Given the description of an element on the screen output the (x, y) to click on. 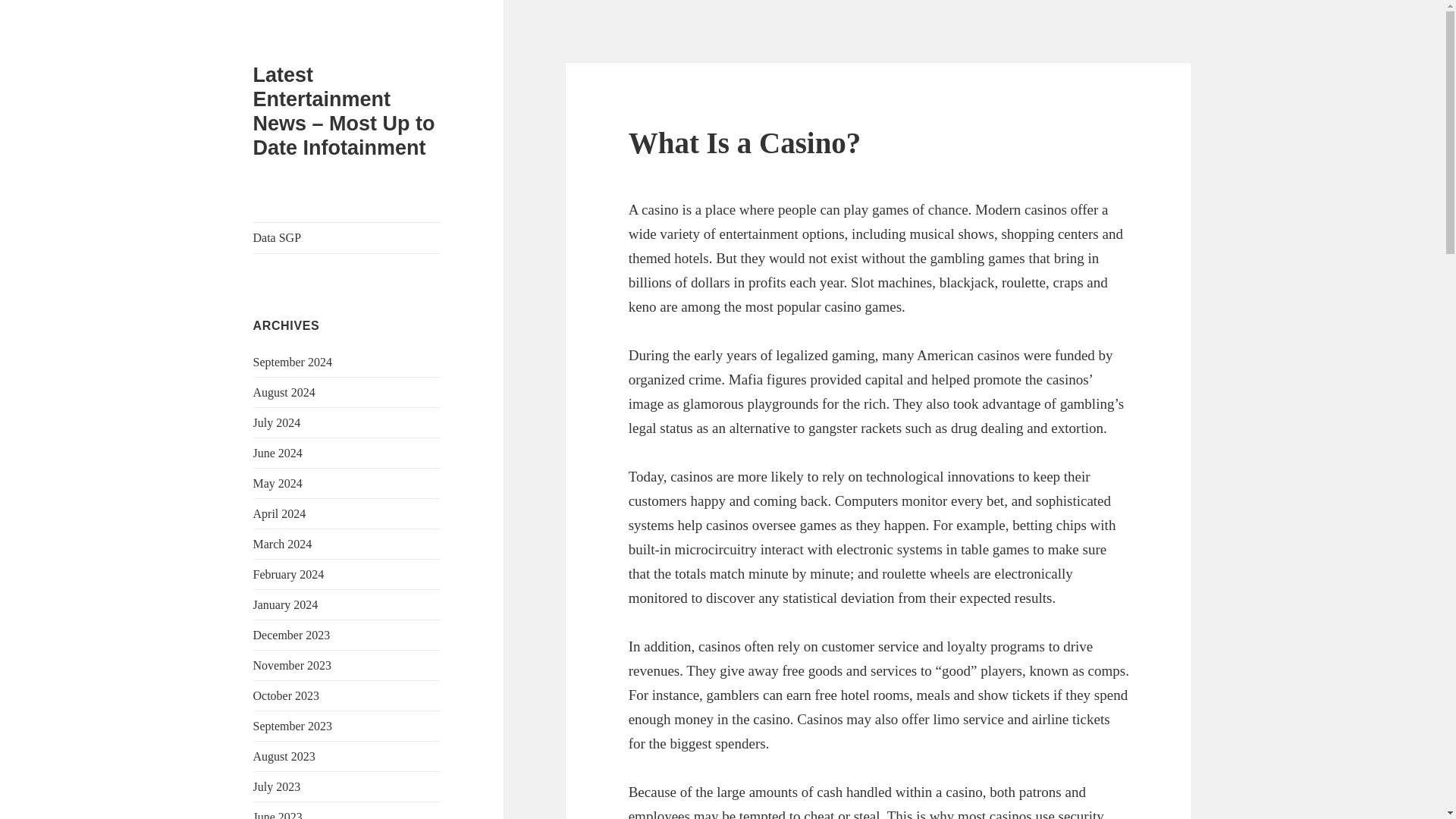
June 2024 (277, 452)
December 2023 (291, 634)
July 2024 (277, 422)
August 2023 (284, 756)
May 2024 (277, 482)
January 2024 (285, 604)
April 2024 (279, 513)
March 2024 (283, 543)
July 2023 (277, 786)
September 2023 (292, 725)
